Given the description of an element on the screen output the (x, y) to click on. 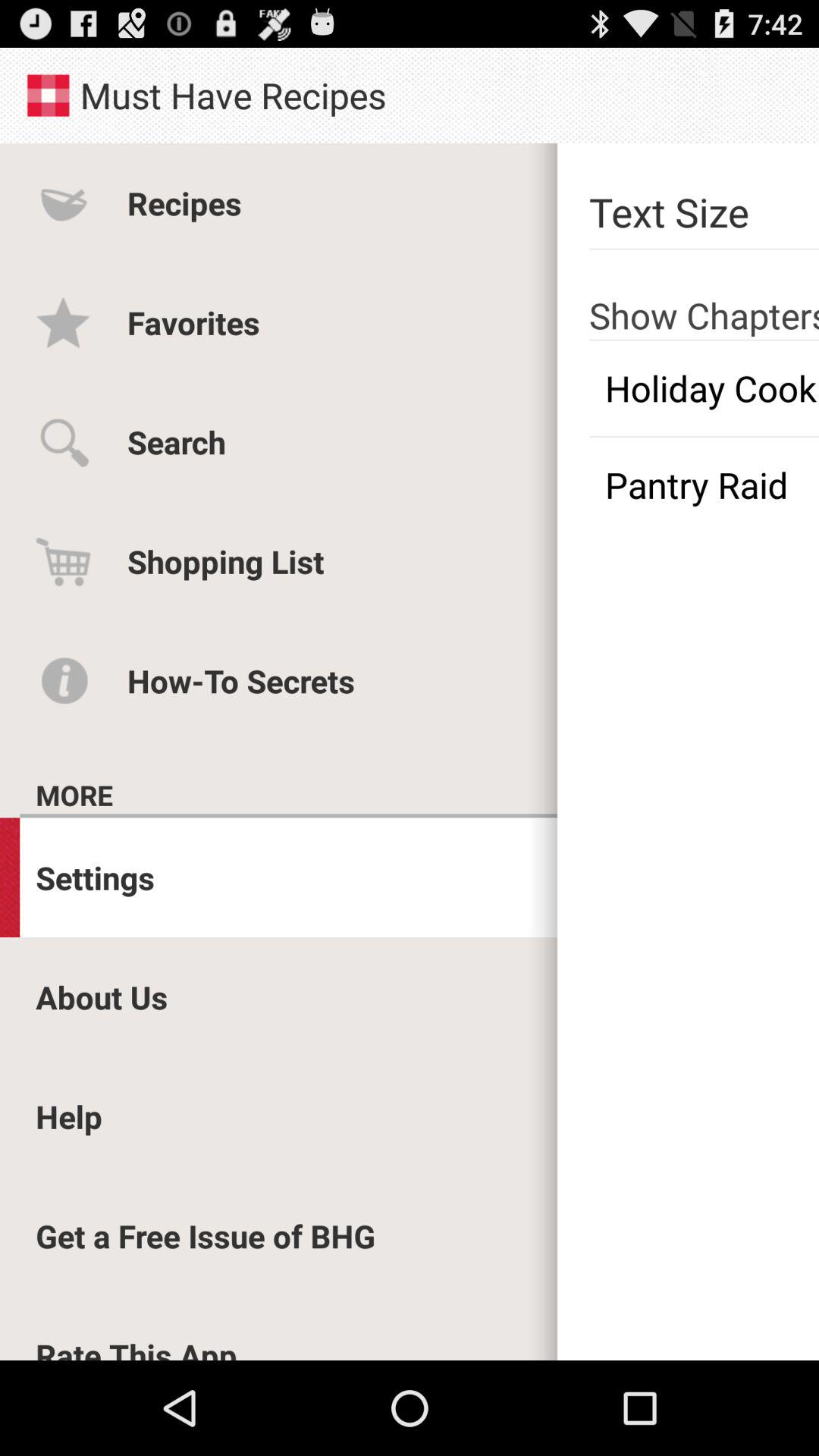
turn on the icon to the right of the favorites (704, 388)
